Given the description of an element on the screen output the (x, y) to click on. 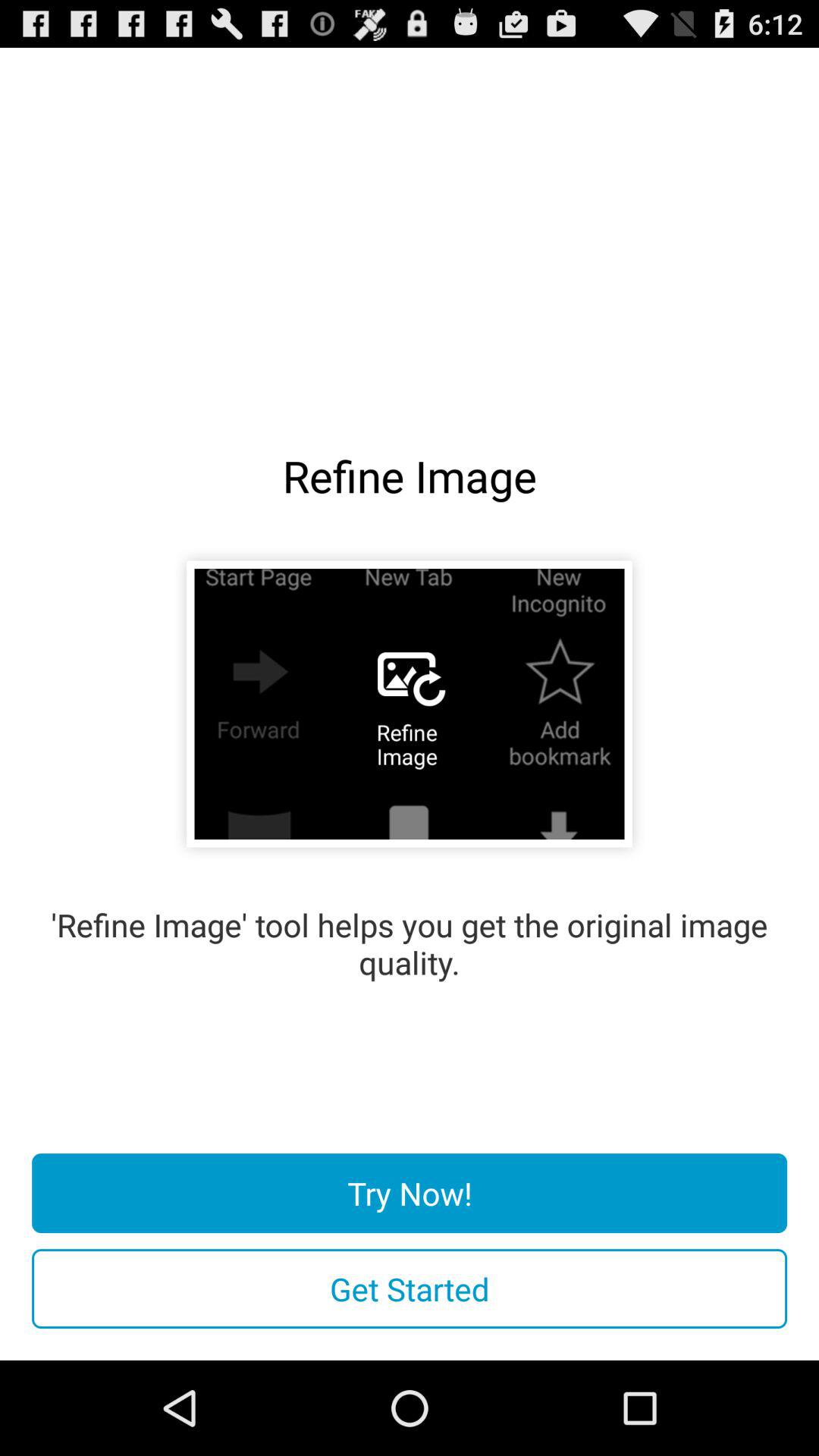
tap get started button (409, 1288)
